Given the description of an element on the screen output the (x, y) to click on. 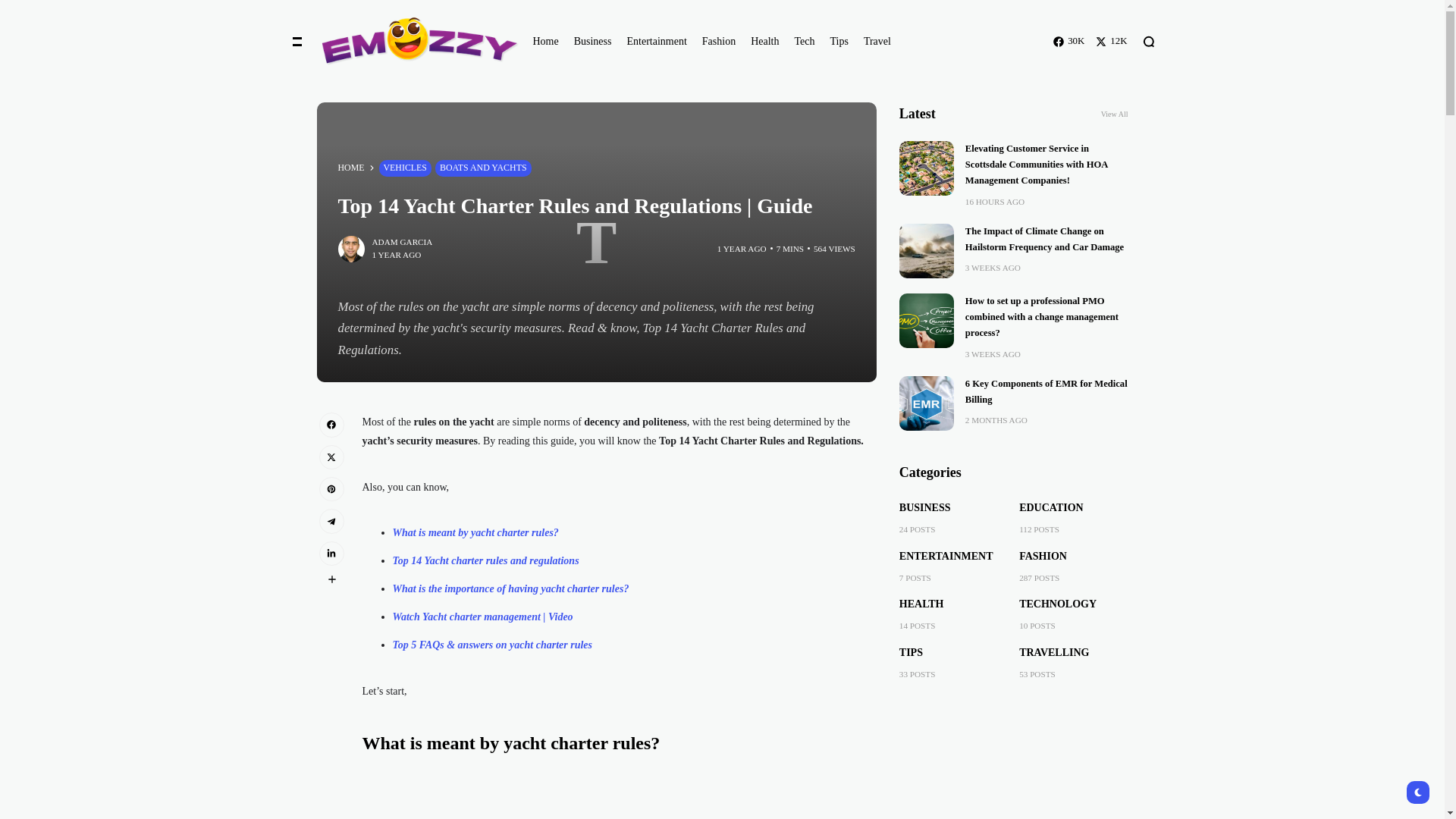
12K (1111, 41)
ADAM GARCIA (401, 241)
VEHICLES (404, 167)
What is the importance of having yacht charter rules? (510, 588)
Entertainment (655, 41)
1 YEAR AGO (742, 248)
Posts by Adam Garcia (401, 241)
HOME (351, 168)
564 VIEWS (834, 248)
Top 14 Yacht charter rules and regulations (486, 560)
30K (1068, 41)
BOATS AND YACHTS (483, 167)
What is meant by yacht charter rules? (476, 532)
Emozzy (411, 40)
